Given the description of an element on the screen output the (x, y) to click on. 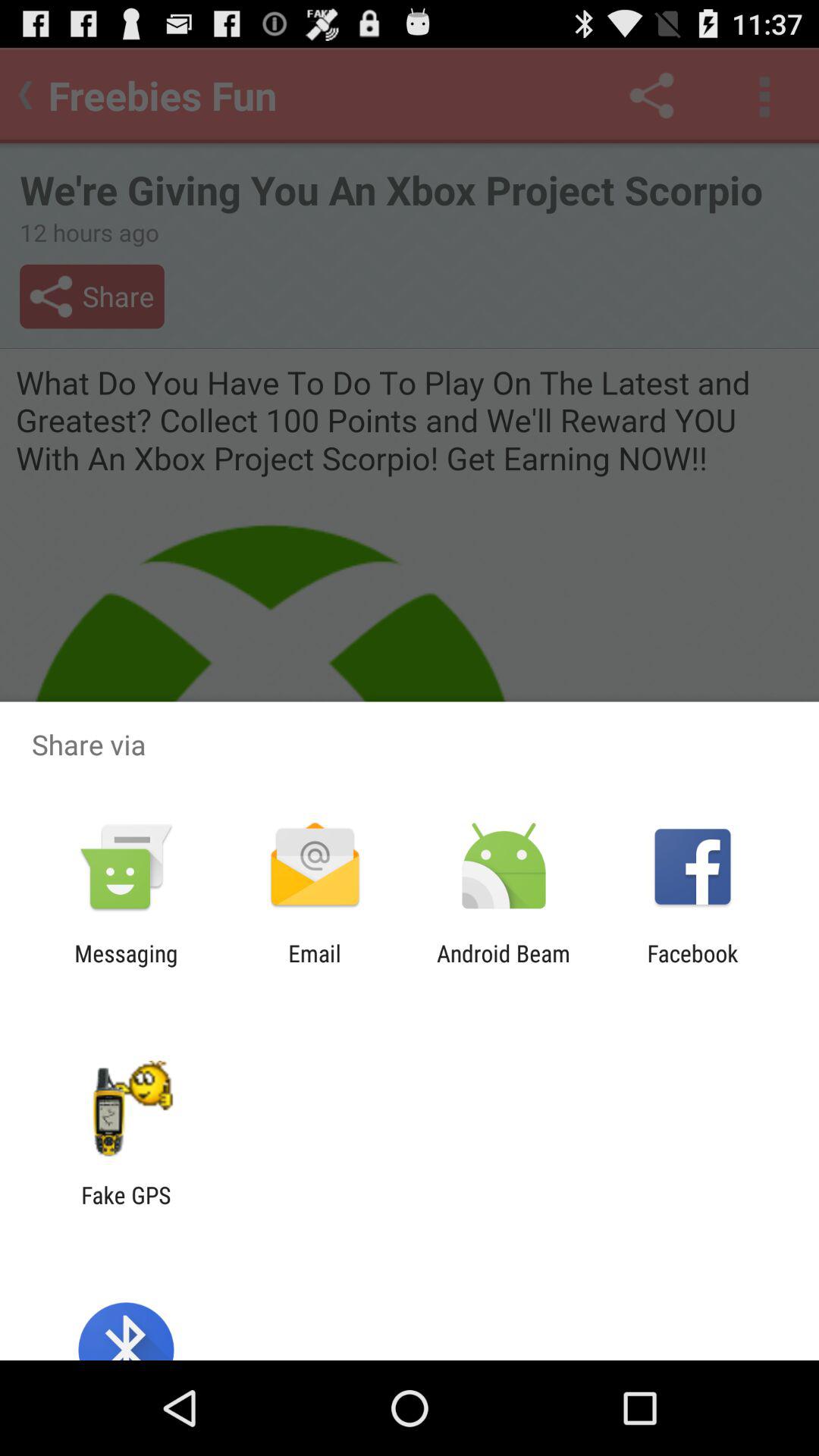
turn off icon to the right of messaging icon (314, 966)
